Given the description of an element on the screen output the (x, y) to click on. 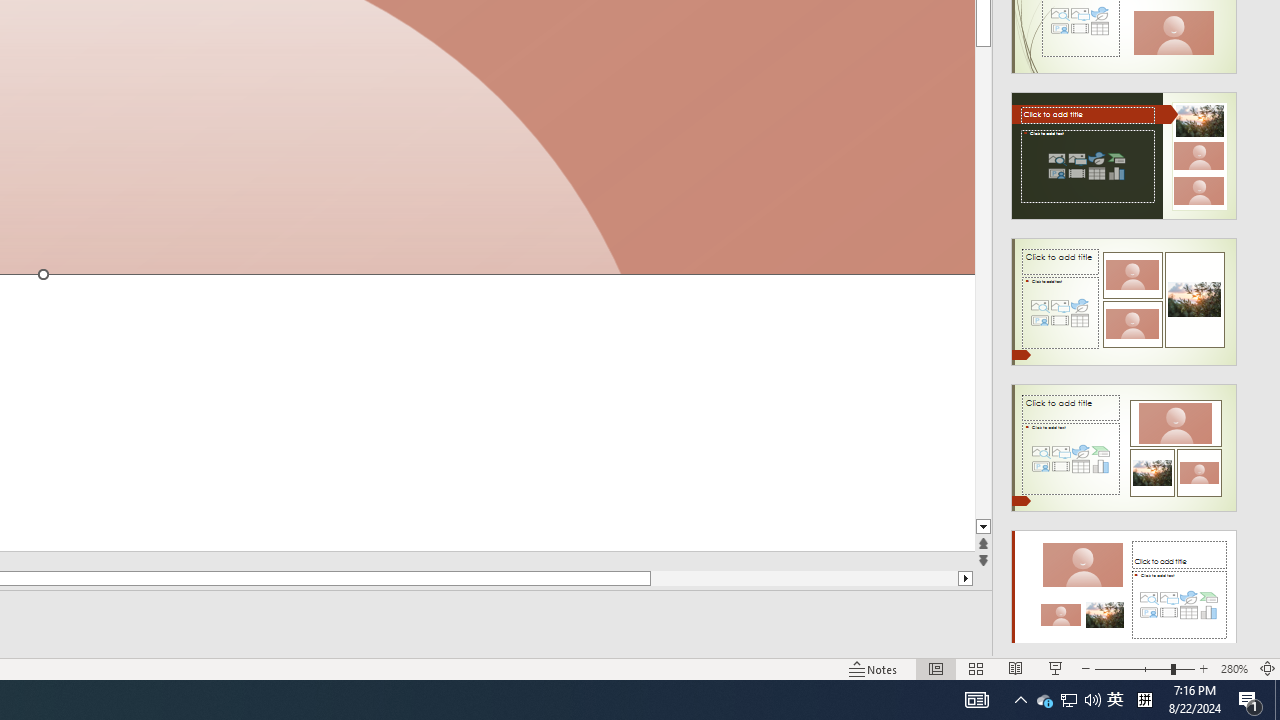
Zoom 280% (1234, 668)
Design Idea (1124, 587)
